Given the description of an element on the screen output the (x, y) to click on. 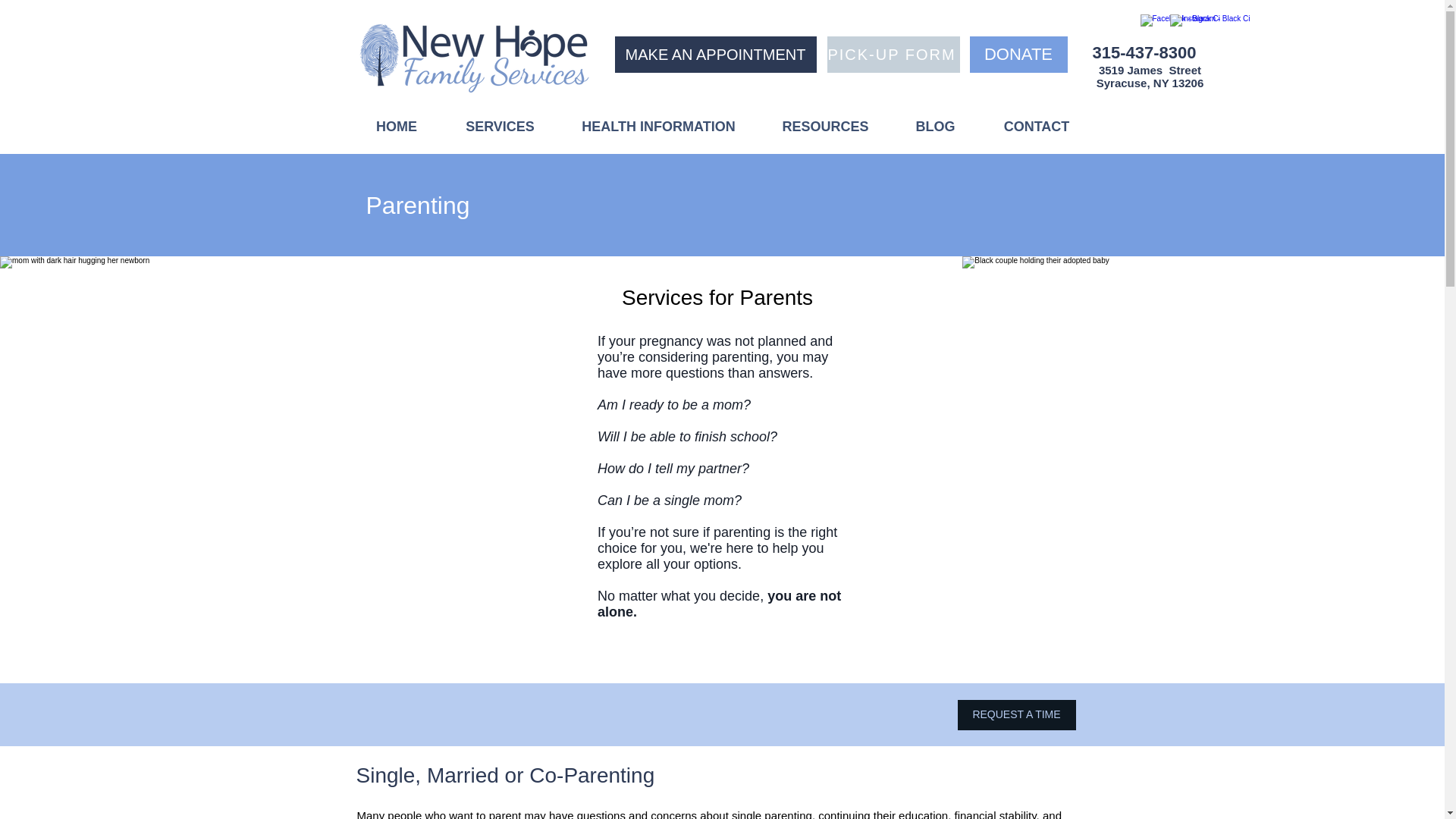
MAKE AN APPOINTMENT (714, 54)
HOME (396, 127)
3519 James  Street (1150, 69)
RESOURCES (825, 127)
CONTACT (1036, 127)
Syracuse, NY 13206 (1150, 82)
BLOG (935, 127)
REQUEST A TIME (1015, 715)
DONATE (1018, 54)
315-437-8300 (1143, 52)
